Given the description of an element on the screen output the (x, y) to click on. 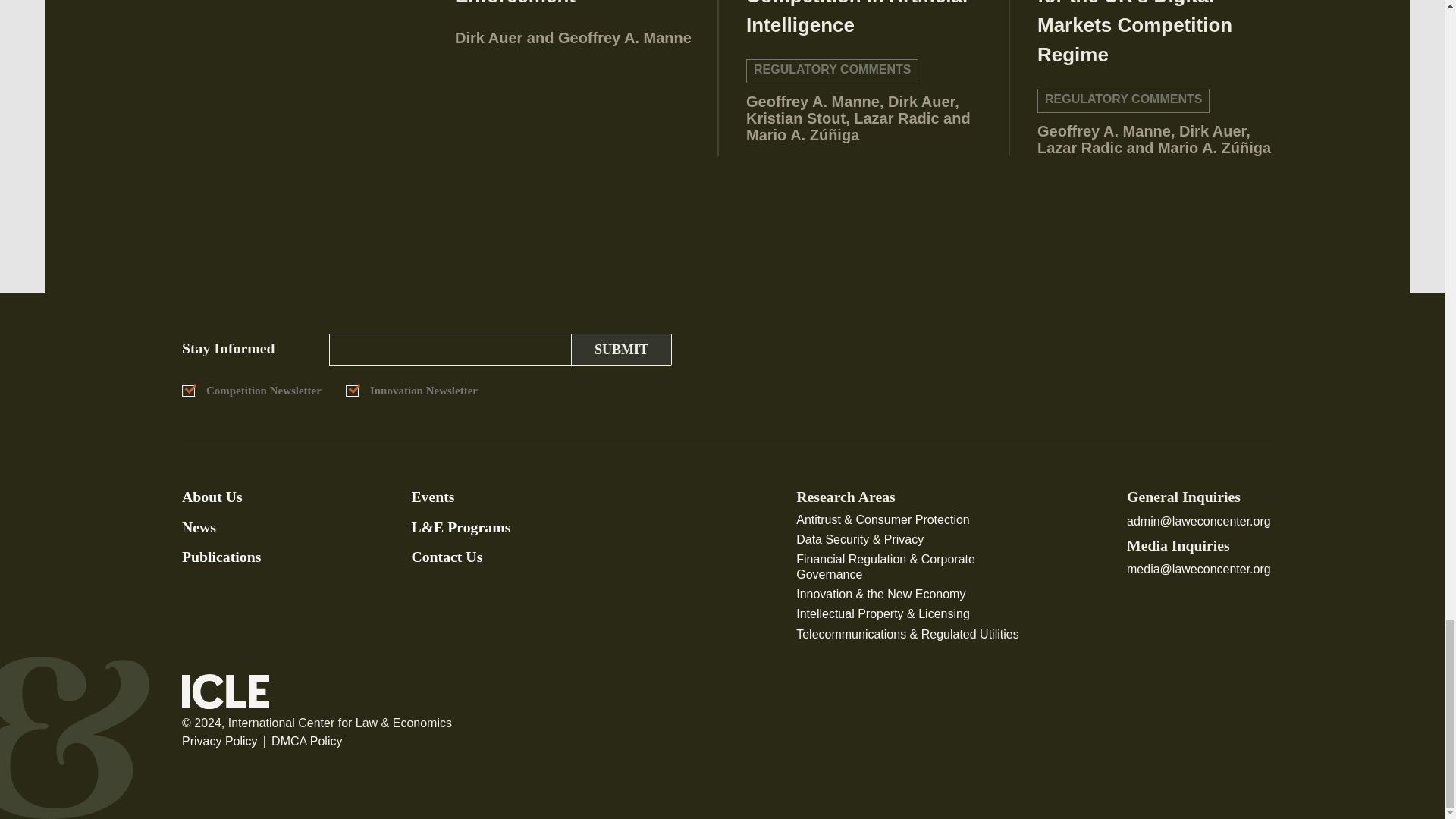
Posts by Lazar Radic (896, 117)
Posts by Geoffrey A. Manne (624, 37)
Posts by Geoffrey A. Manne (1103, 130)
Posts by Geoffrey A. Manne (812, 101)
Posts by Lazar Radic (1079, 147)
Posts by Dirk Auer (921, 101)
Posts by Dirk Auer (1212, 130)
Posts by Kristian Stout (795, 117)
Posts by Dirk Auer (488, 37)
